Given the description of an element on the screen output the (x, y) to click on. 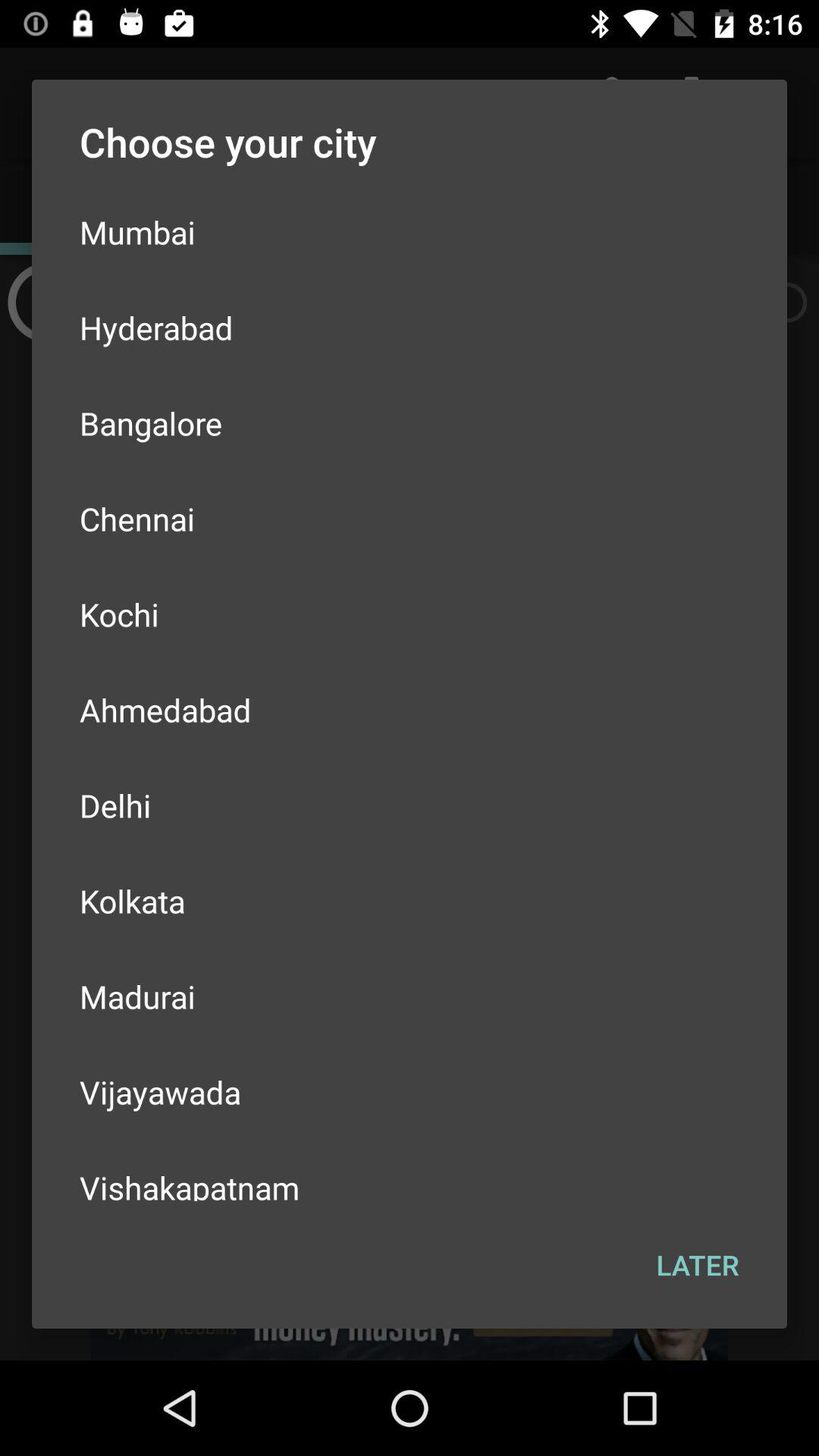
swipe until the ahmedabad icon (409, 709)
